Given the description of an element on the screen output the (x, y) to click on. 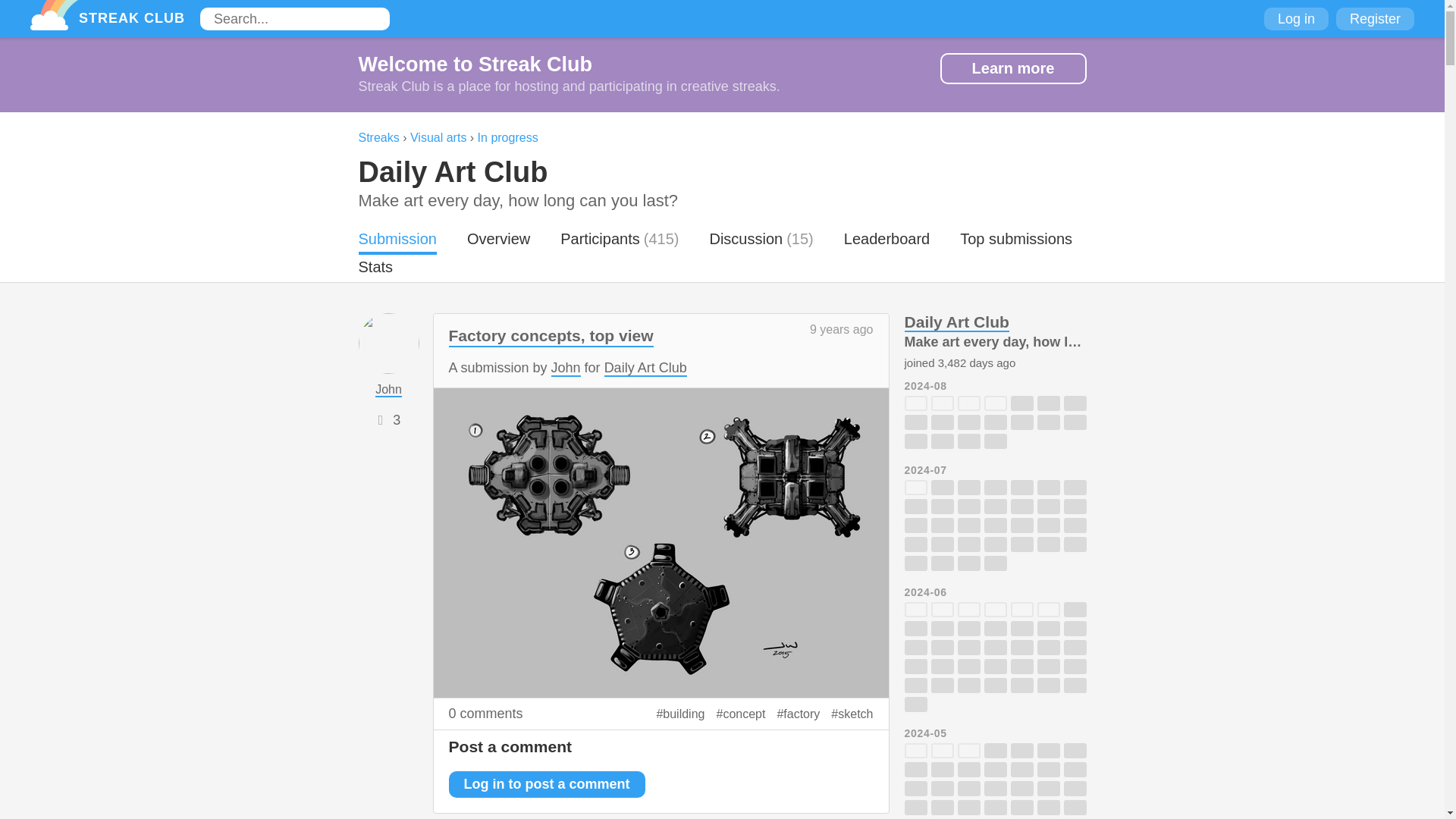
building (680, 714)
concept (740, 714)
Log in to post a comment (546, 784)
sketch (851, 714)
Discussion (746, 242)
Leaderboard (887, 242)
Daily Art Club (452, 172)
factory (797, 714)
Factory concepts, top view (550, 336)
Submission (396, 242)
